Given the description of an element on the screen output the (x, y) to click on. 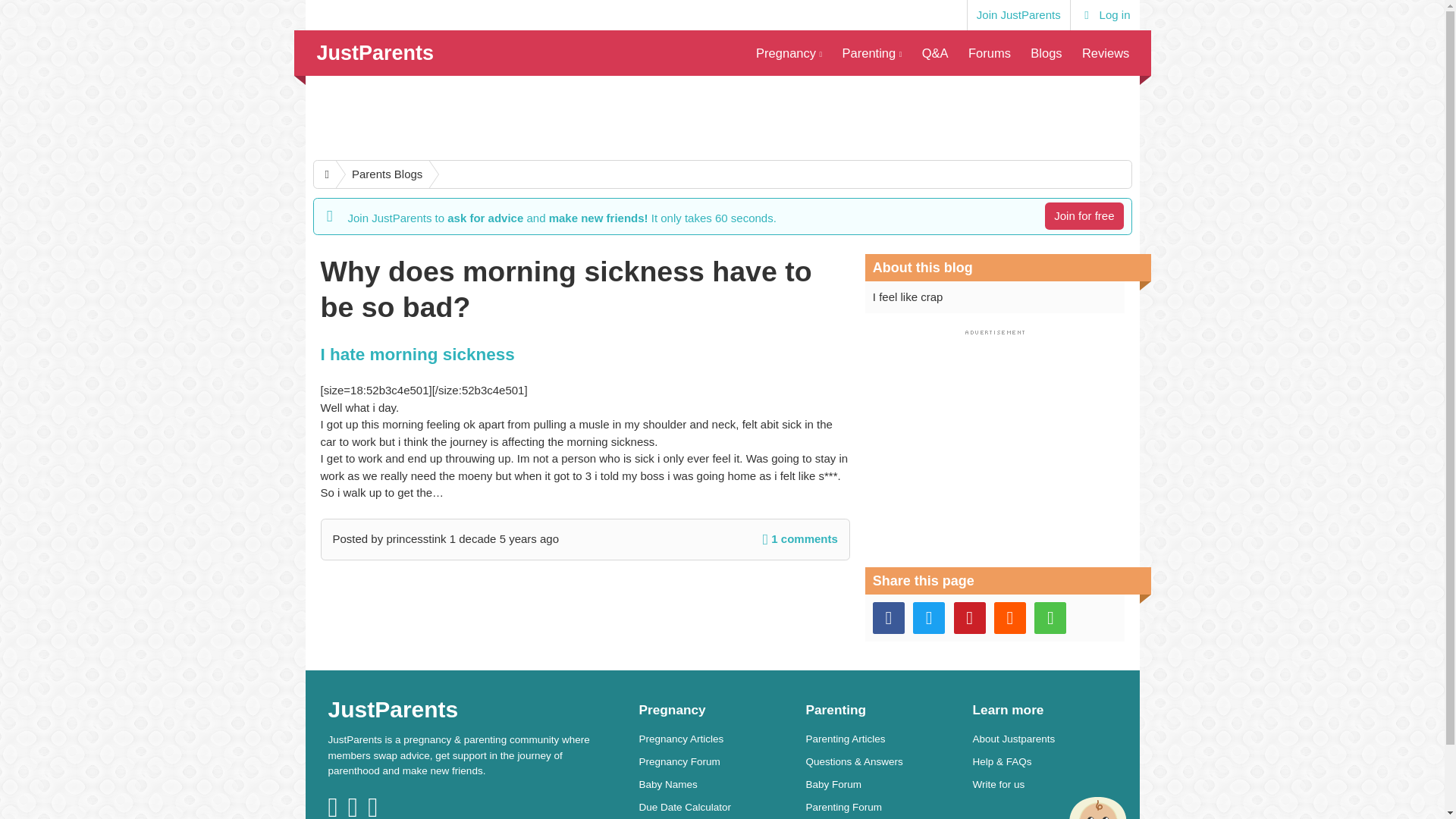
Baby Names (711, 784)
Due Date Calculator (711, 807)
Reviews (1105, 53)
Pregnancy Articles (711, 739)
Log in (1105, 15)
Parents Blogs (379, 174)
Join JustParents (1018, 15)
Pregnancy Forum (711, 762)
JustParents (374, 53)
I hate morning sickness (416, 353)
Parenting (871, 53)
Blogs (1045, 53)
Forums (989, 53)
Join for free (1083, 215)
1 comments (800, 538)
